Given the description of an element on the screen output the (x, y) to click on. 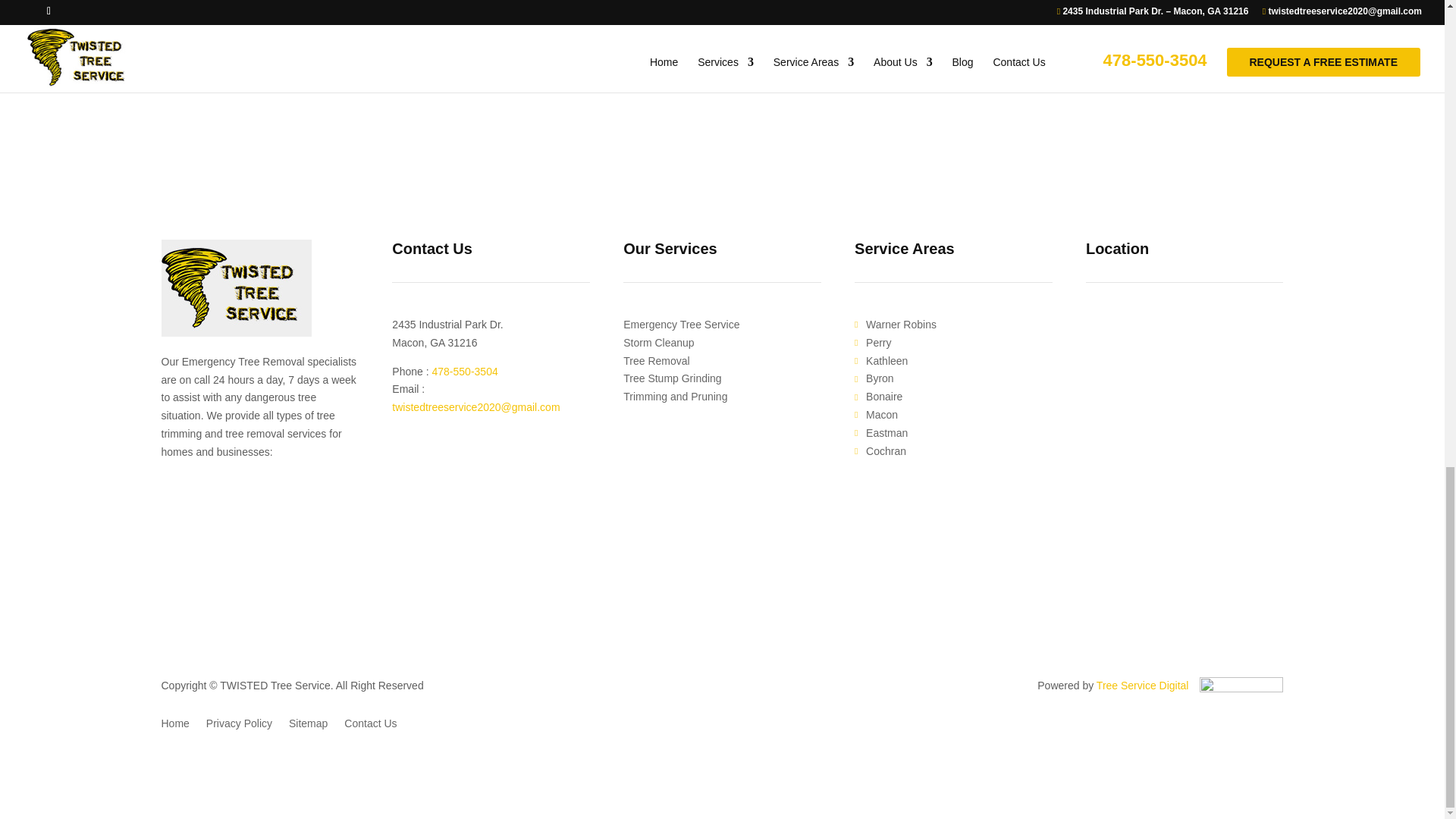
478-550-3504 (464, 371)
Trimming and Pruning (1012, 12)
Emergency Tree Service (681, 324)
foot-logo (235, 287)
Follow on Facebook (172, 490)
